Given the description of an element on the screen output the (x, y) to click on. 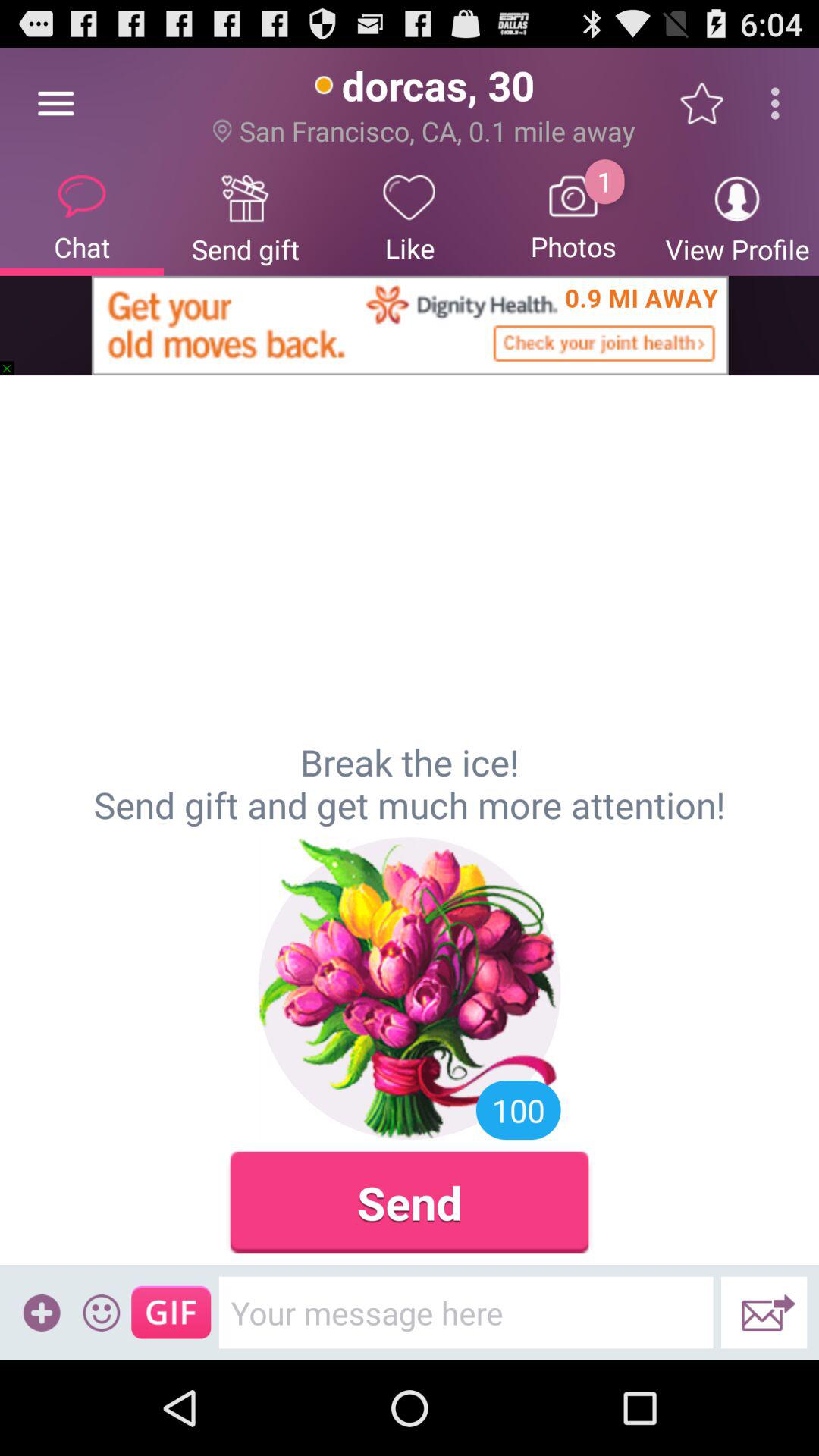
select item next to view profile (573, 217)
